Given the description of an element on the screen output the (x, y) to click on. 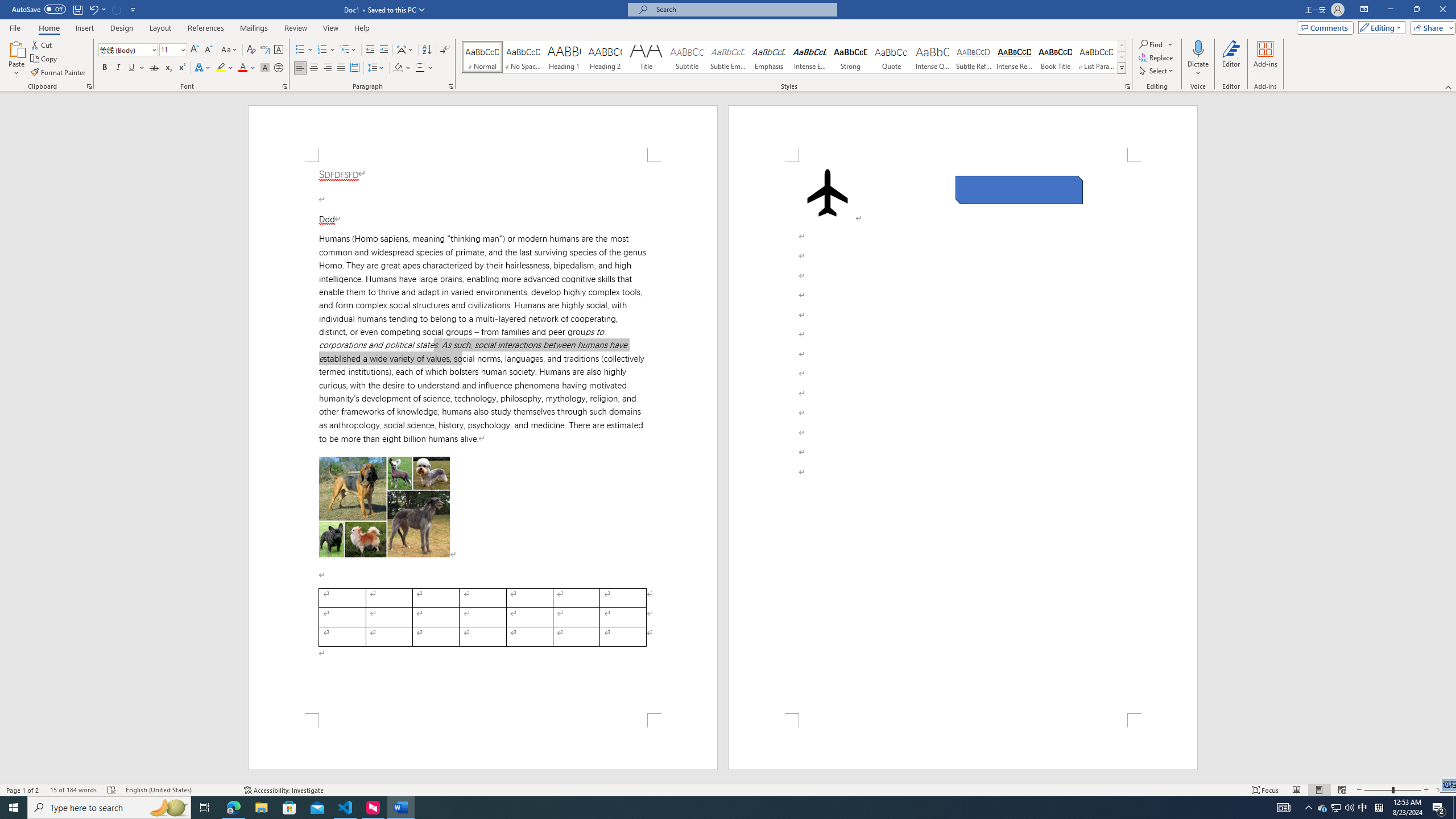
Can't Repeat (117, 9)
Increase Indent (383, 49)
Row up (1121, 45)
Format Painter (58, 72)
Intense Quote (932, 56)
Shading (402, 67)
Justify (340, 67)
Align Right (327, 67)
Multilevel List (347, 49)
Shading RGB(0, 0, 0) (397, 67)
Morphological variation in six dogs (383, 507)
Rectangle: Diagonal Corners Snipped 2 (1019, 189)
Borders (424, 67)
Borders (419, 67)
